Given the description of an element on the screen output the (x, y) to click on. 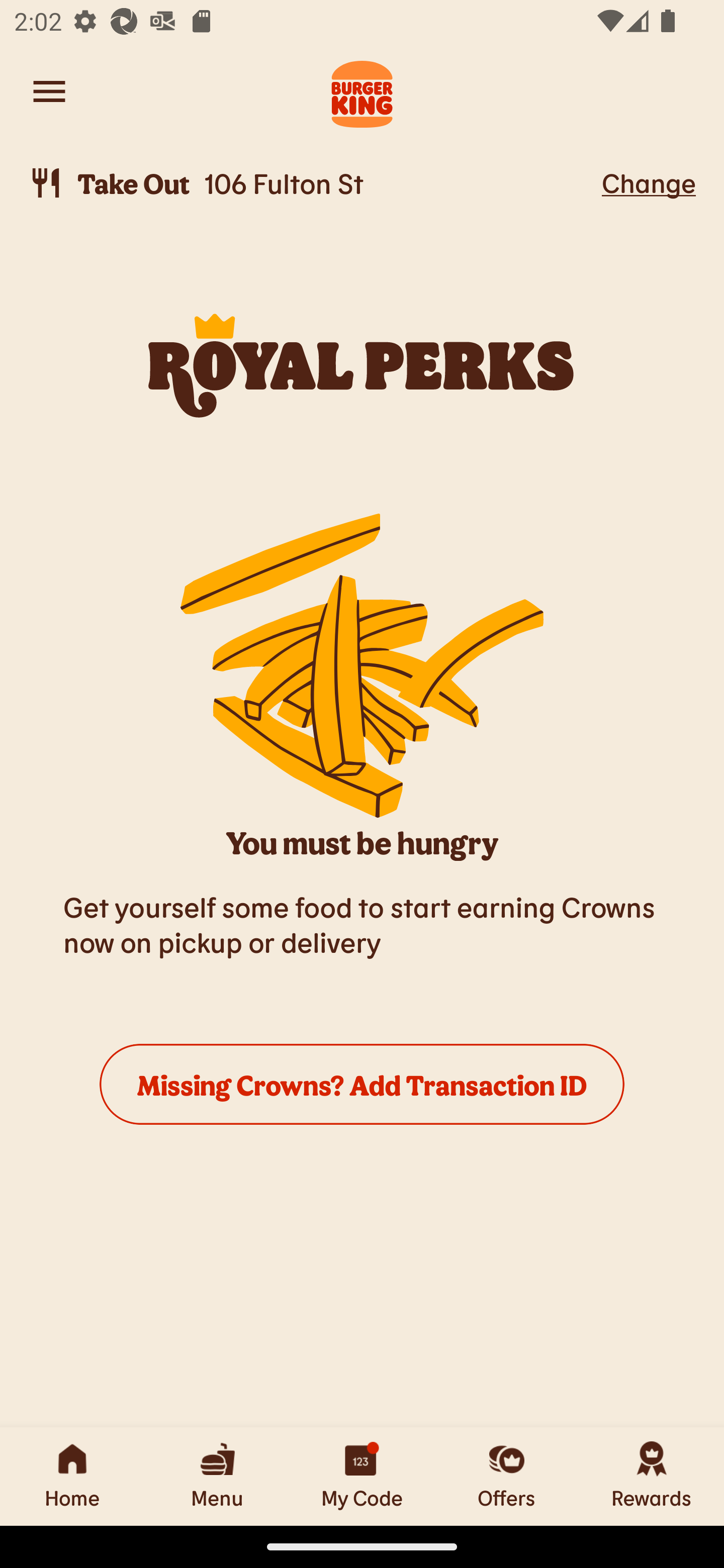
Burger King Logo. Navigate to Home (362, 91)
Navigate to account menu  (49, 91)
Take Out, 106 Fulton St  Take Out 106 Fulton St (311, 183)
Change (648, 182)
Missing Crowns? Add Transaction ID (361, 1084)
Home (72, 1475)
Menu (216, 1475)
My Code (361, 1475)
Offers (506, 1475)
Rewards (651, 1475)
